Given the description of an element on the screen output the (x, y) to click on. 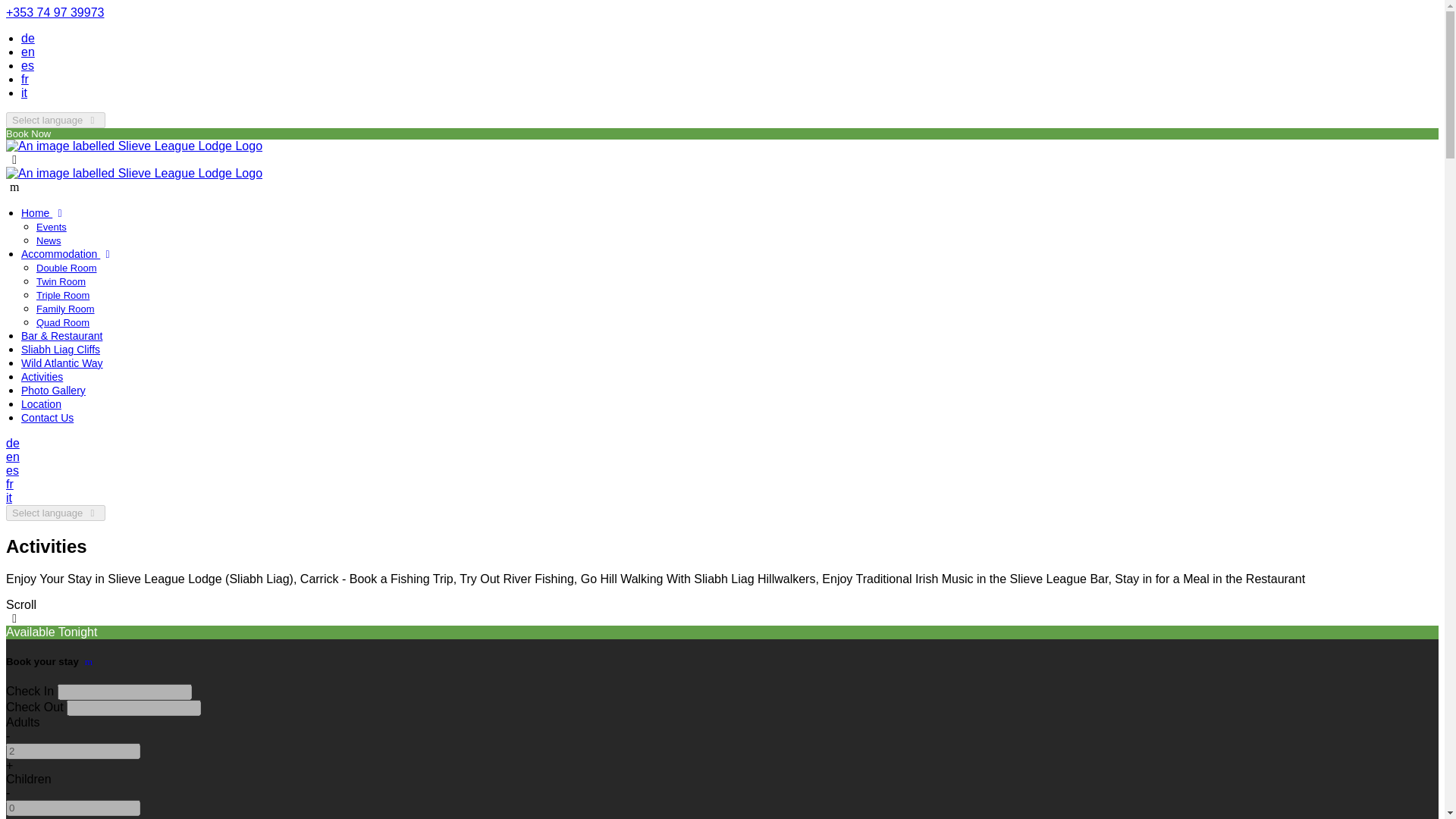
2 (72, 750)
Home (43, 213)
Select language (54, 119)
Wild Atlantic Way (62, 363)
Twin Room (60, 281)
es (11, 470)
Photo Gallery (53, 390)
0 (72, 807)
News (48, 240)
en (12, 456)
